Given the description of an element on the screen output the (x, y) to click on. 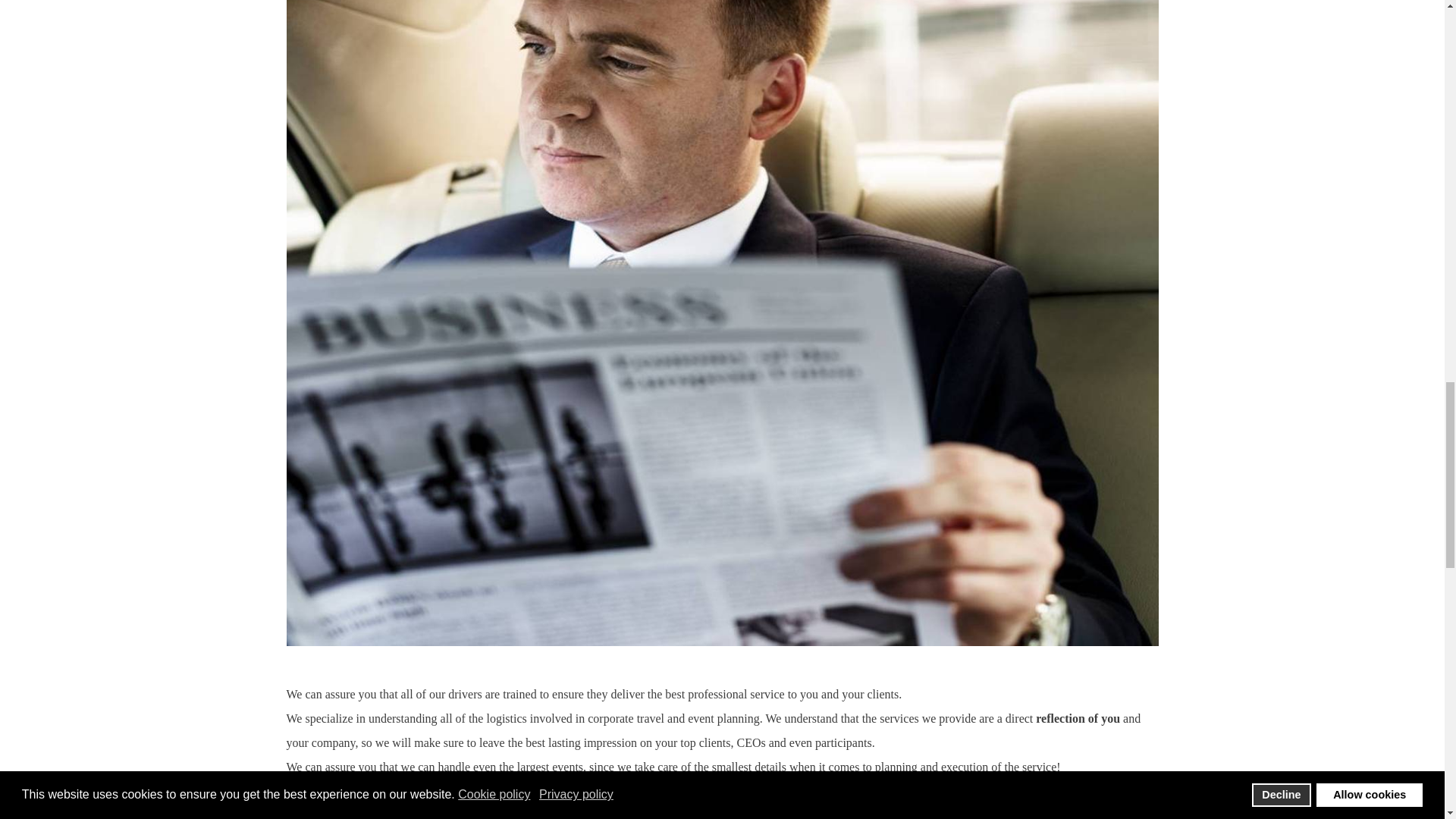
Tweet (300, 814)
